Given the description of an element on the screen output the (x, y) to click on. 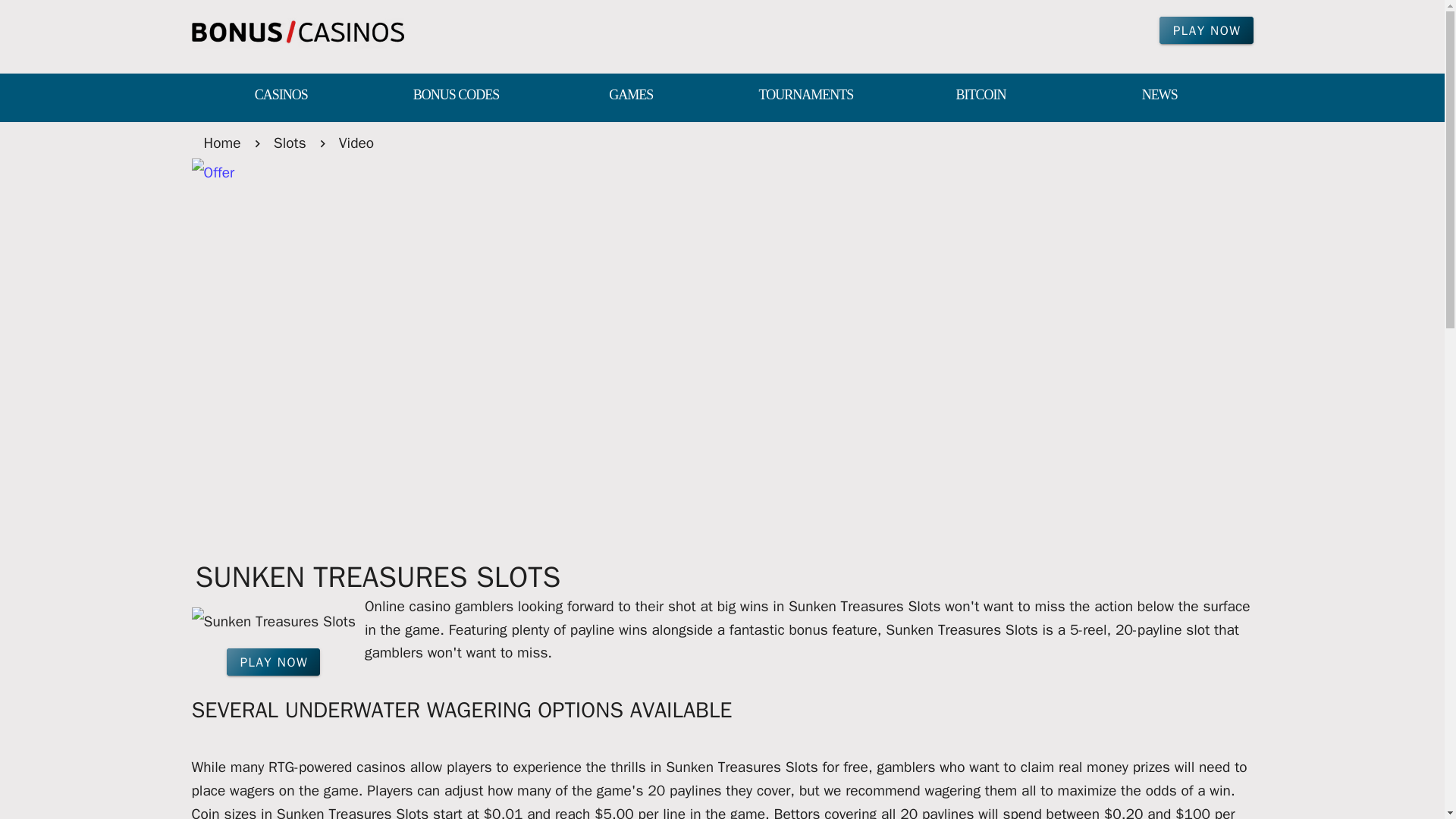
CASINOS (280, 95)
Home (221, 143)
TOURNAMENTS (805, 95)
Slots (289, 143)
BONUS CODES (456, 95)
Video (356, 143)
GAMES (630, 95)
BITCOIN (980, 95)
NEWS (1159, 95)
PLAY NOW (1205, 30)
PLAY NOW (273, 661)
